Given the description of an element on the screen output the (x, y) to click on. 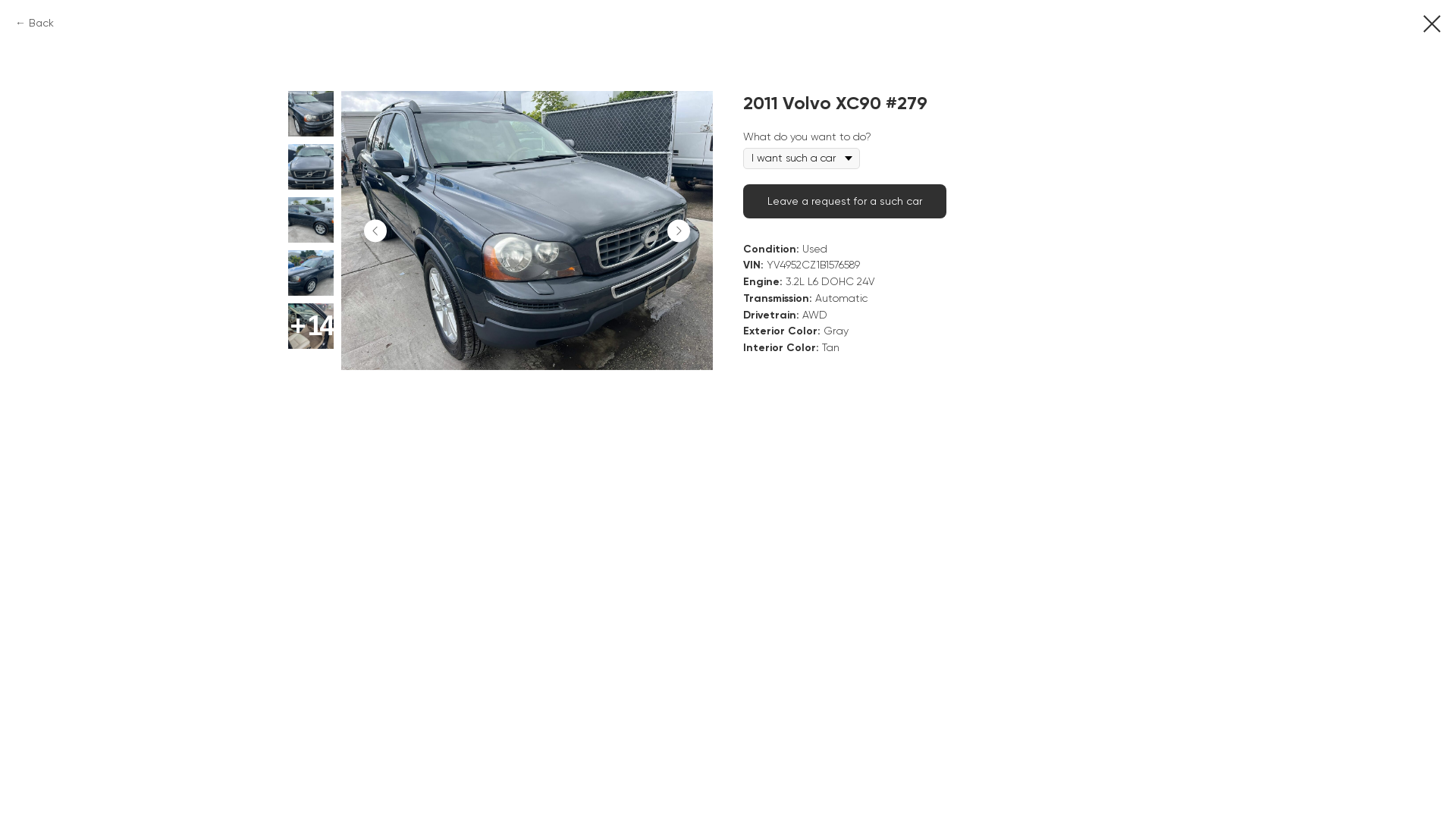
Leave a request for a such car Element type: text (844, 201)
Back Element type: text (34, 23)
